Given the description of an element on the screen output the (x, y) to click on. 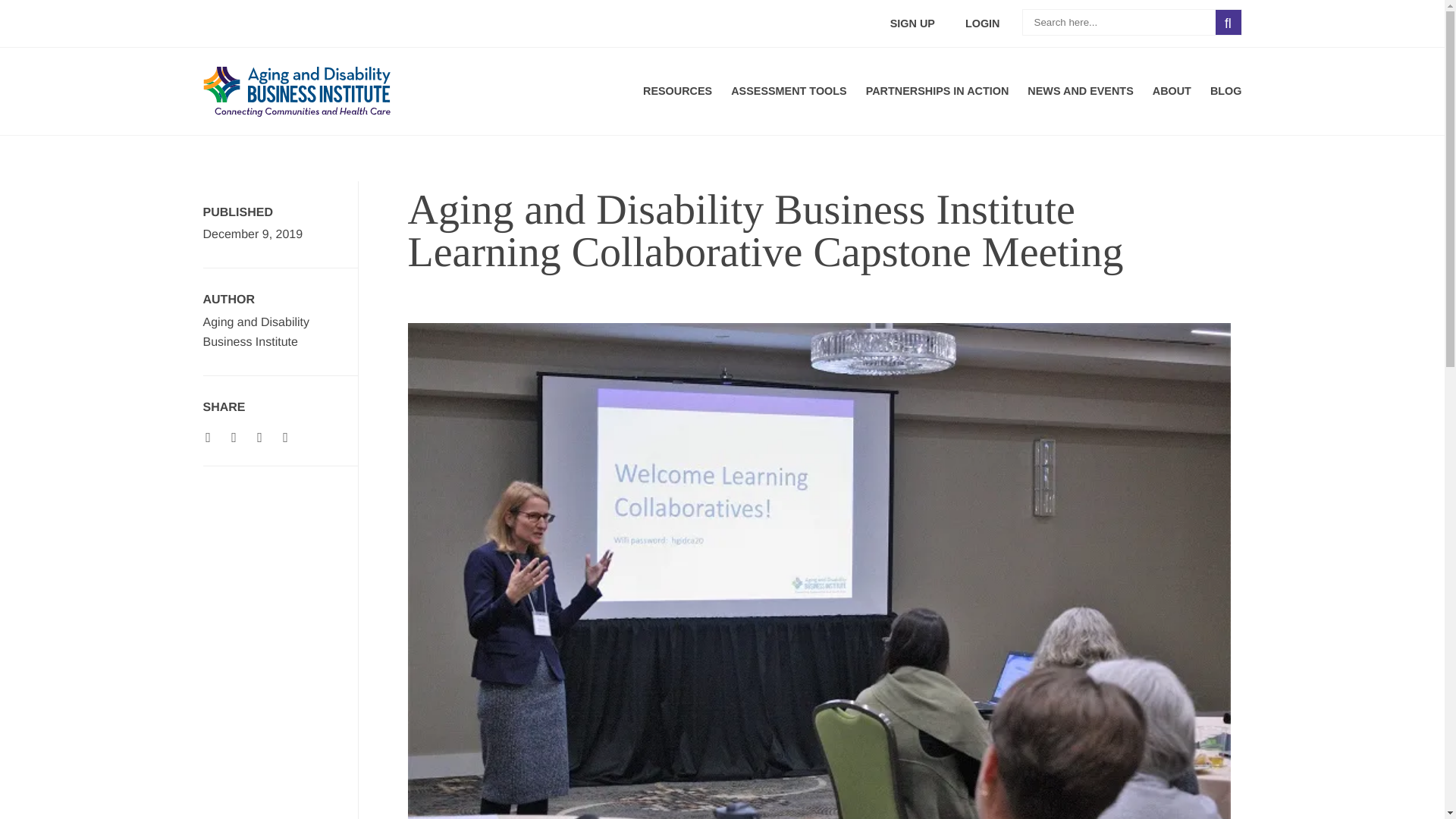
Sign Up for N4A (911, 23)
ABOUT (1172, 90)
NEWS AND EVENTS (1079, 90)
RESOURCES (677, 90)
Assessment Tools (787, 90)
ASSESSMENT TOOLS (787, 90)
PARTNERSHIPS IN ACTION (937, 90)
SIGN UP (911, 23)
Submit to Search (1227, 22)
Resources (677, 90)
